Given the description of an element on the screen output the (x, y) to click on. 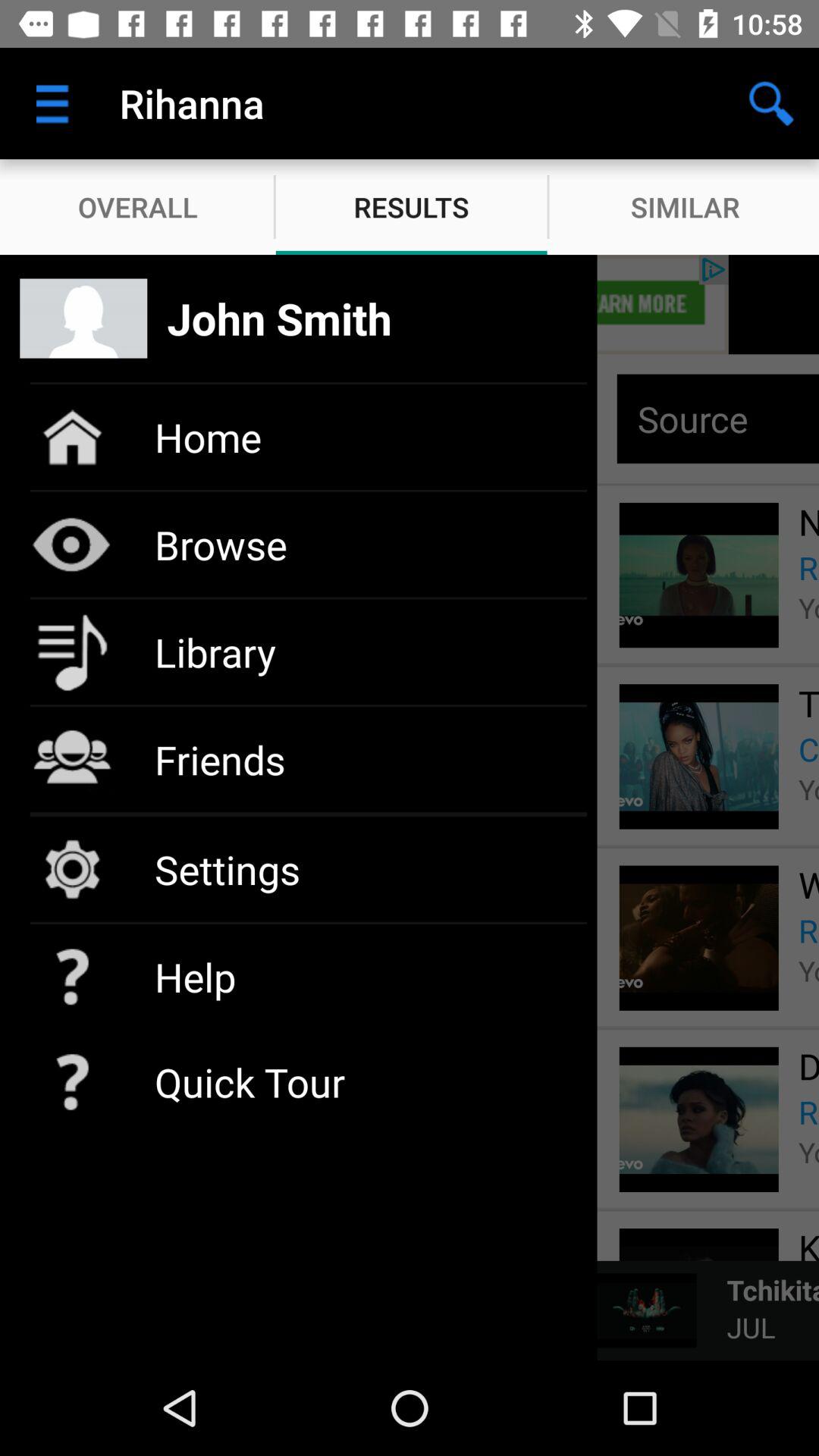
show list (409, 304)
